Given the description of an element on the screen output the (x, y) to click on. 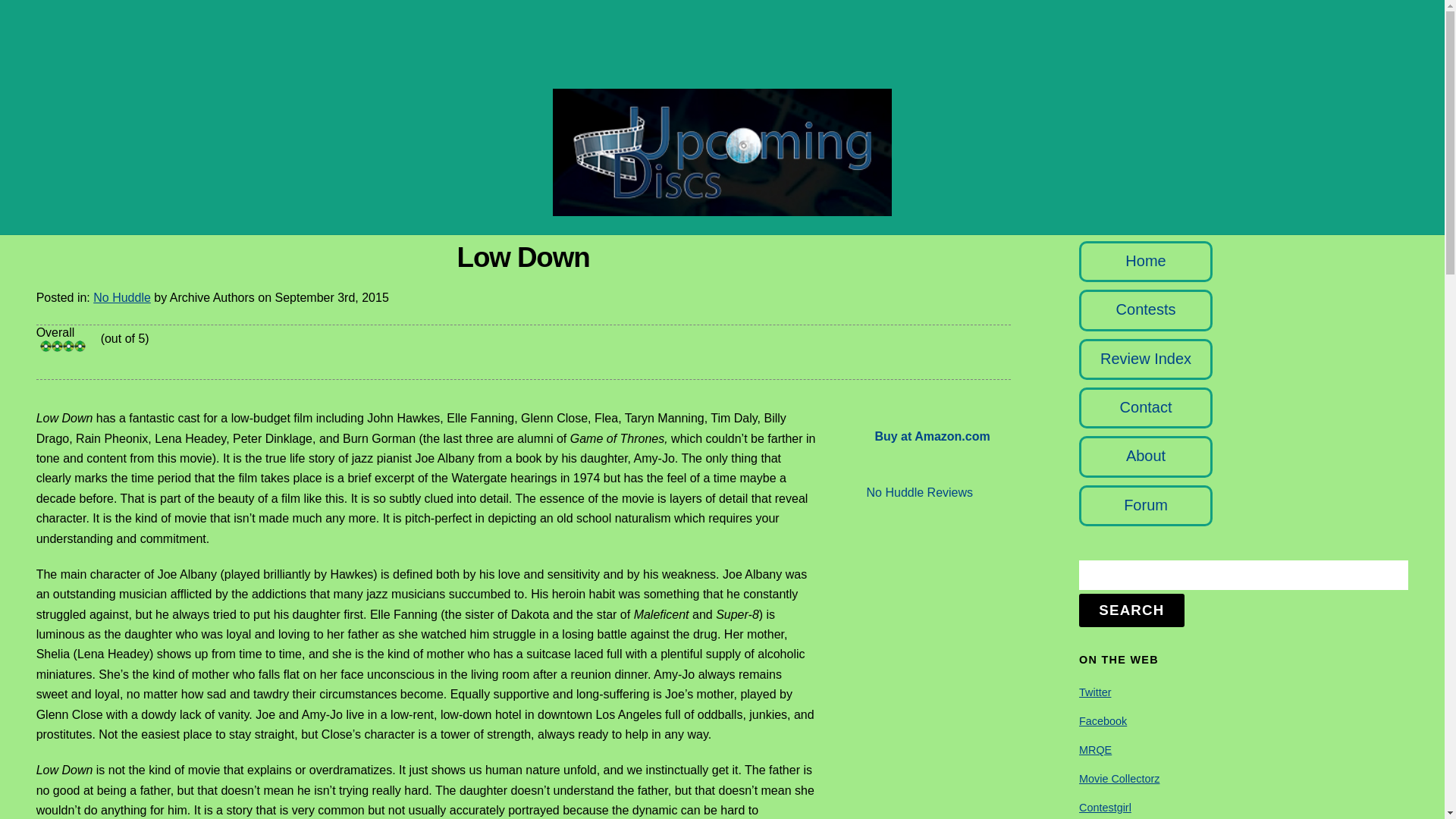
About (1145, 455)
Contests (1146, 309)
SEARCH (1131, 609)
Search (1242, 574)
Twitter (1094, 692)
No Huddle Reviews (920, 492)
Forum (1145, 504)
Home (1145, 260)
Buy at Amazon.com (932, 436)
Review Index (1145, 358)
Contact (1145, 406)
Contestgirl (1104, 807)
UpcomingDiscs.com (722, 208)
MRQE (1095, 749)
Facebook (1102, 720)
